Given the description of an element on the screen output the (x, y) to click on. 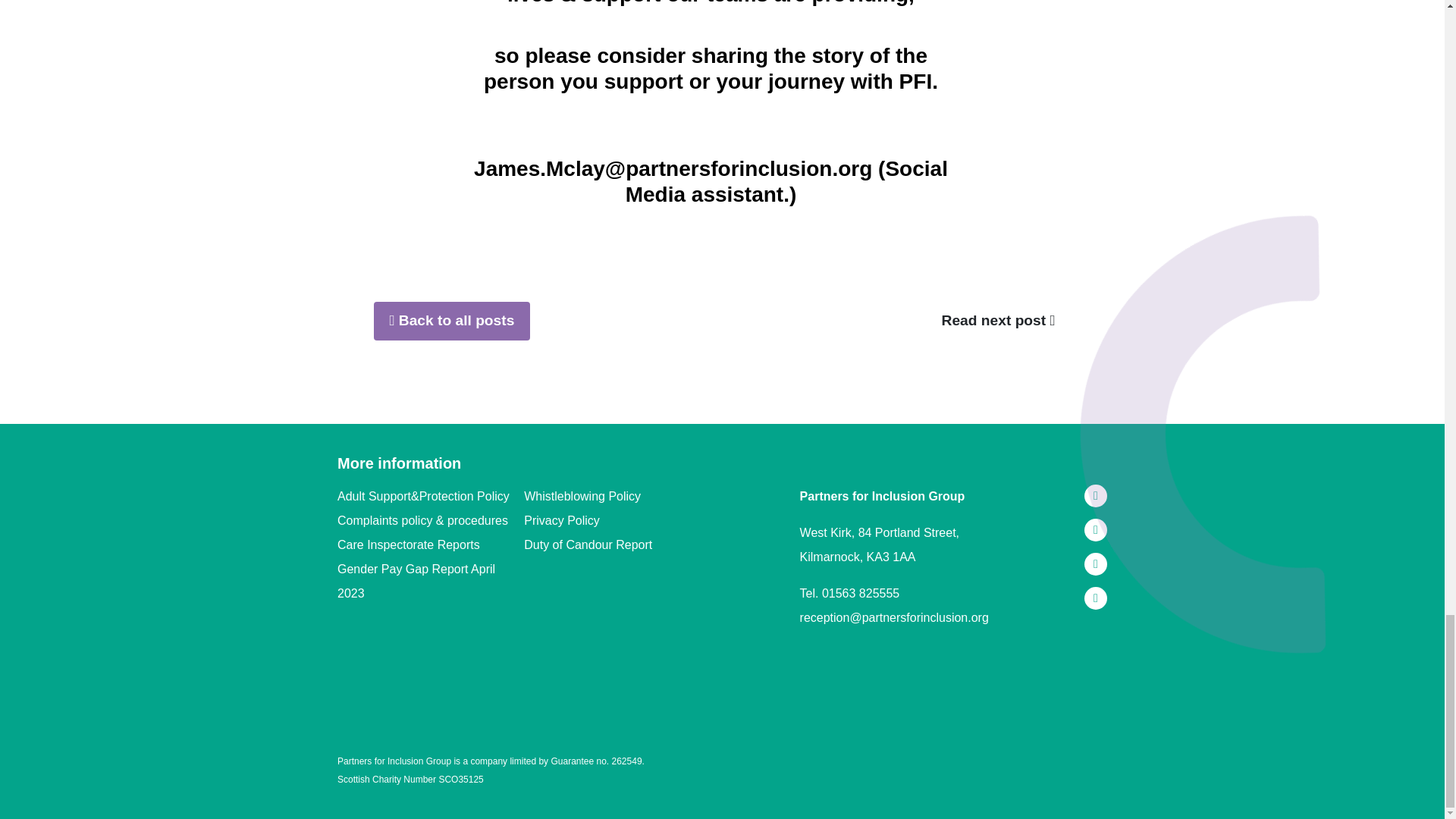
Read next post  (998, 321)
 Back to all posts (450, 321)
Care Inspectorate Reports (430, 545)
Whistleblowing Policy (617, 496)
Privacy Policy (617, 520)
Duty of Candour Report (617, 545)
Gender Pay Gap Report April 2023 (430, 581)
